Given the description of an element on the screen output the (x, y) to click on. 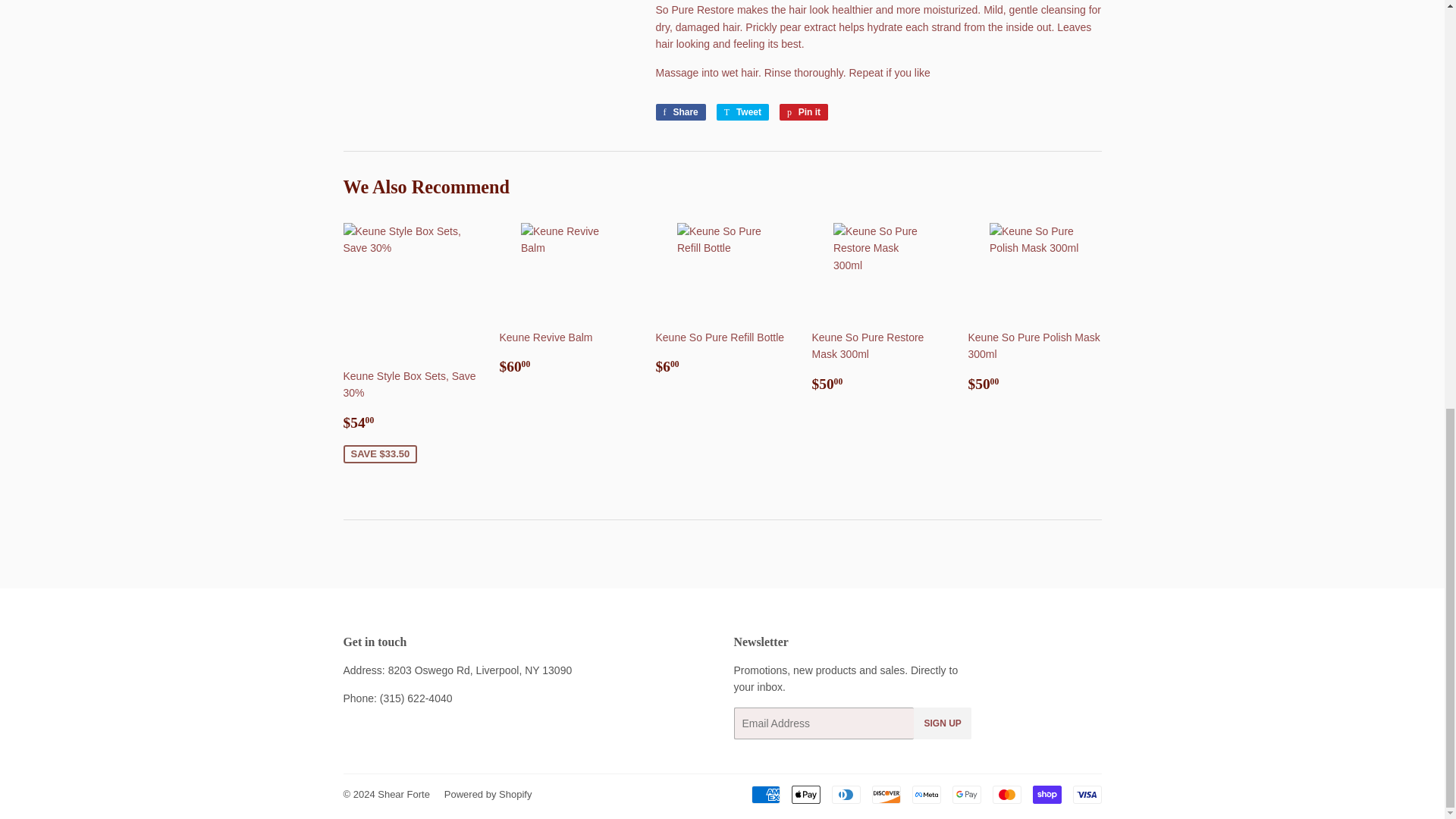
Shear Forte (403, 794)
Shop Pay (679, 112)
Apple Pay (1046, 794)
Share on Facebook (803, 112)
American Express (806, 794)
Diners Club (742, 112)
Meta Pay (679, 112)
Visa (764, 794)
SIGN UP (845, 794)
Mastercard (925, 794)
Discover (1085, 794)
Powered by Shopify (942, 723)
